Given the description of an element on the screen output the (x, y) to click on. 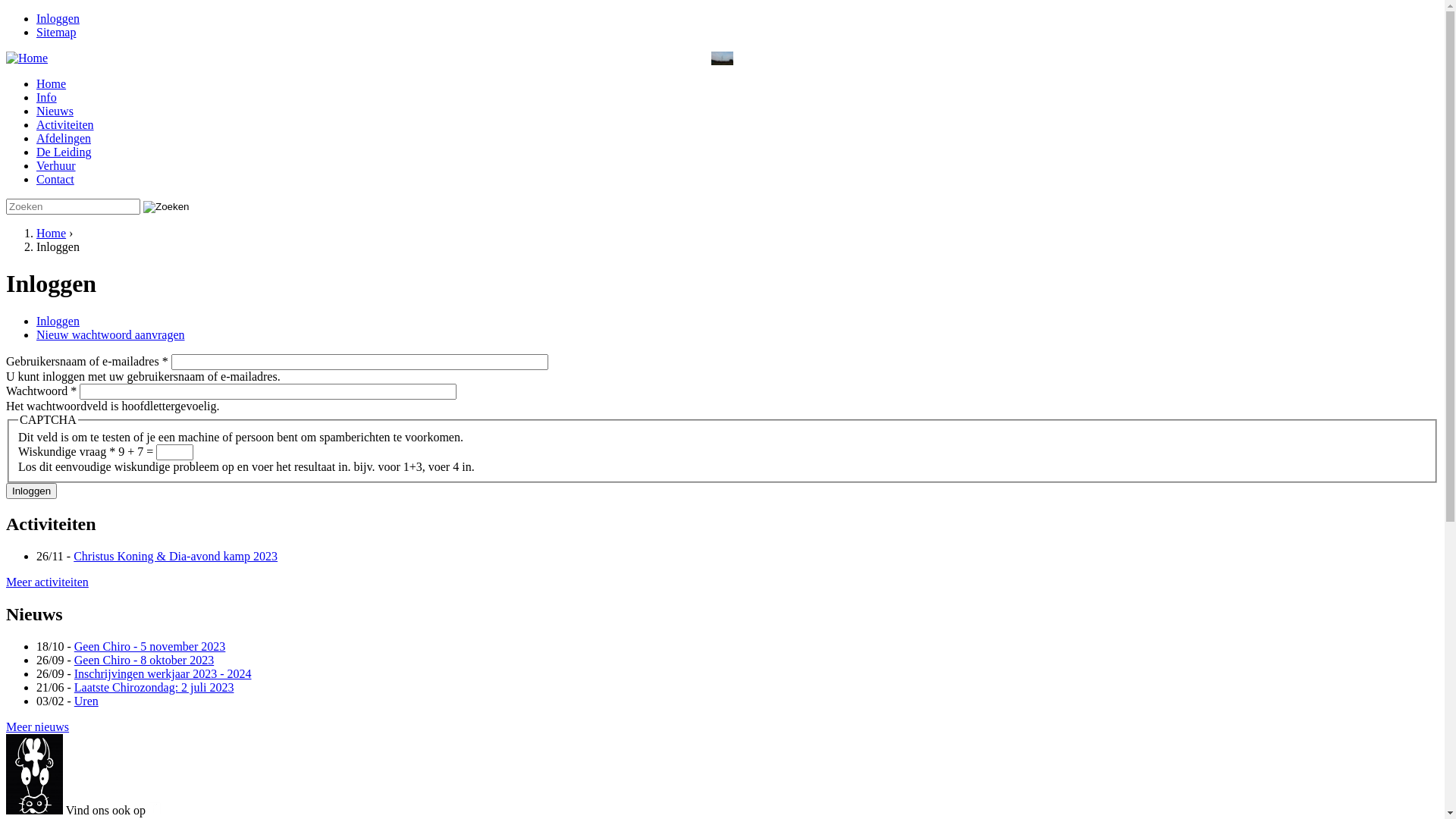
Geen Chiro - 8 oktober 2023 Element type: text (143, 659)
Home Element type: text (50, 232)
Uren Element type: text (86, 700)
Nieuws Element type: text (54, 110)
Nieuw wachtwoord aanvragen Element type: text (110, 334)
Geen Chiro - 5 november 2023 Element type: text (149, 646)
Meer activiteiten Element type: text (47, 581)
De Leiding Element type: text (63, 151)
Info Element type: text (46, 97)
Home Element type: text (50, 83)
Inschrijvingen werkjaar 2023 - 2024 Element type: text (162, 673)
Inloggen Element type: text (57, 18)
Sitemap Element type: text (55, 31)
Afdelingen Element type: text (63, 137)
Home Element type: hover (26, 57)
Contact Element type: text (55, 178)
Facebook Element type: hover (154, 808)
Christus Koning & Dia-avond kamp 2023 Element type: text (175, 555)
Jump to navigation Element type: text (52, 12)
Laatste Chirozondag: 2 juli 2023 Element type: text (154, 686)
Geef de woorden op waarnaar u wilt zoeken. Element type: hover (73, 206)
Verhuur Element type: text (55, 165)
Activiteiten Element type: text (65, 124)
Inloggen
(actieve tabblad) Element type: text (57, 320)
Inloggen Element type: text (31, 490)
Meer nieuws Element type: text (37, 726)
